Given the description of an element on the screen output the (x, y) to click on. 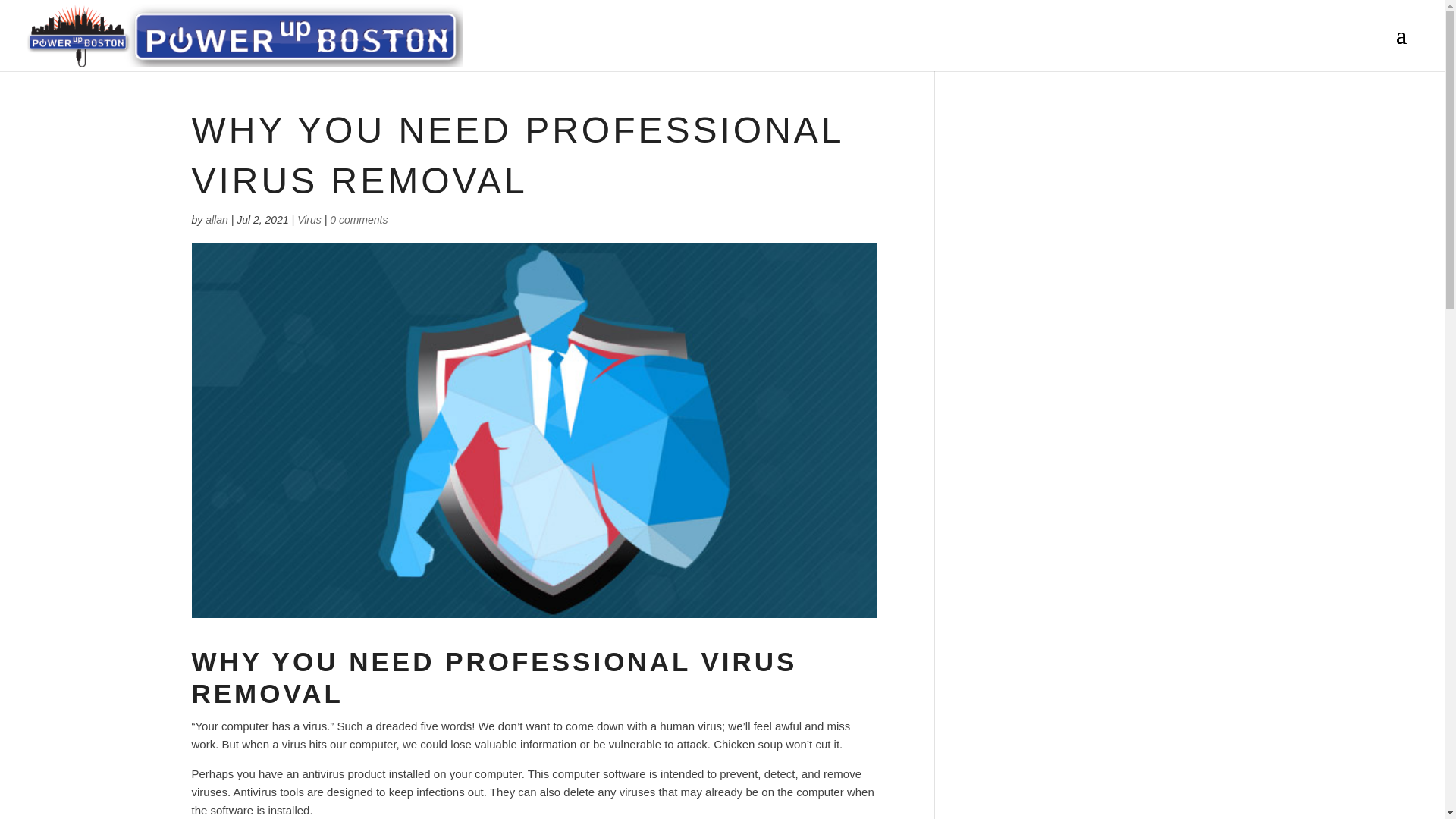
allan (216, 219)
0 comments (358, 219)
Virus (309, 219)
Posts by allan (216, 219)
